Given the description of an element on the screen output the (x, y) to click on. 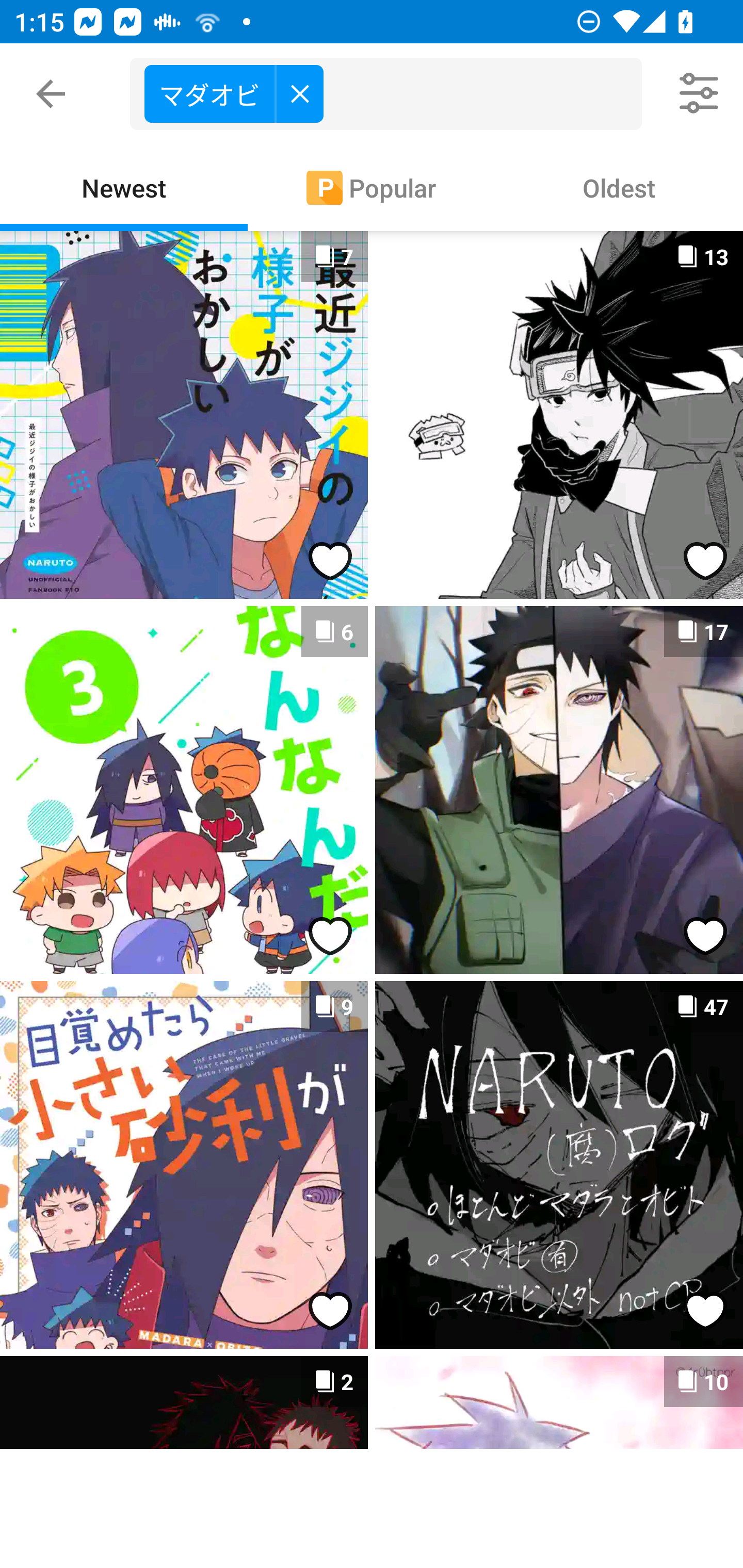
Navigate up (50, 93)
Filters (699, 93)
マダオビ (392, 94)
マダオビ (233, 93)
[P] Popular (371, 187)
Oldest (619, 187)
7 (183, 414)
13 (559, 414)
6 (183, 789)
17 (559, 789)
9 (183, 1164)
47 (559, 1164)
